Given the description of an element on the screen output the (x, y) to click on. 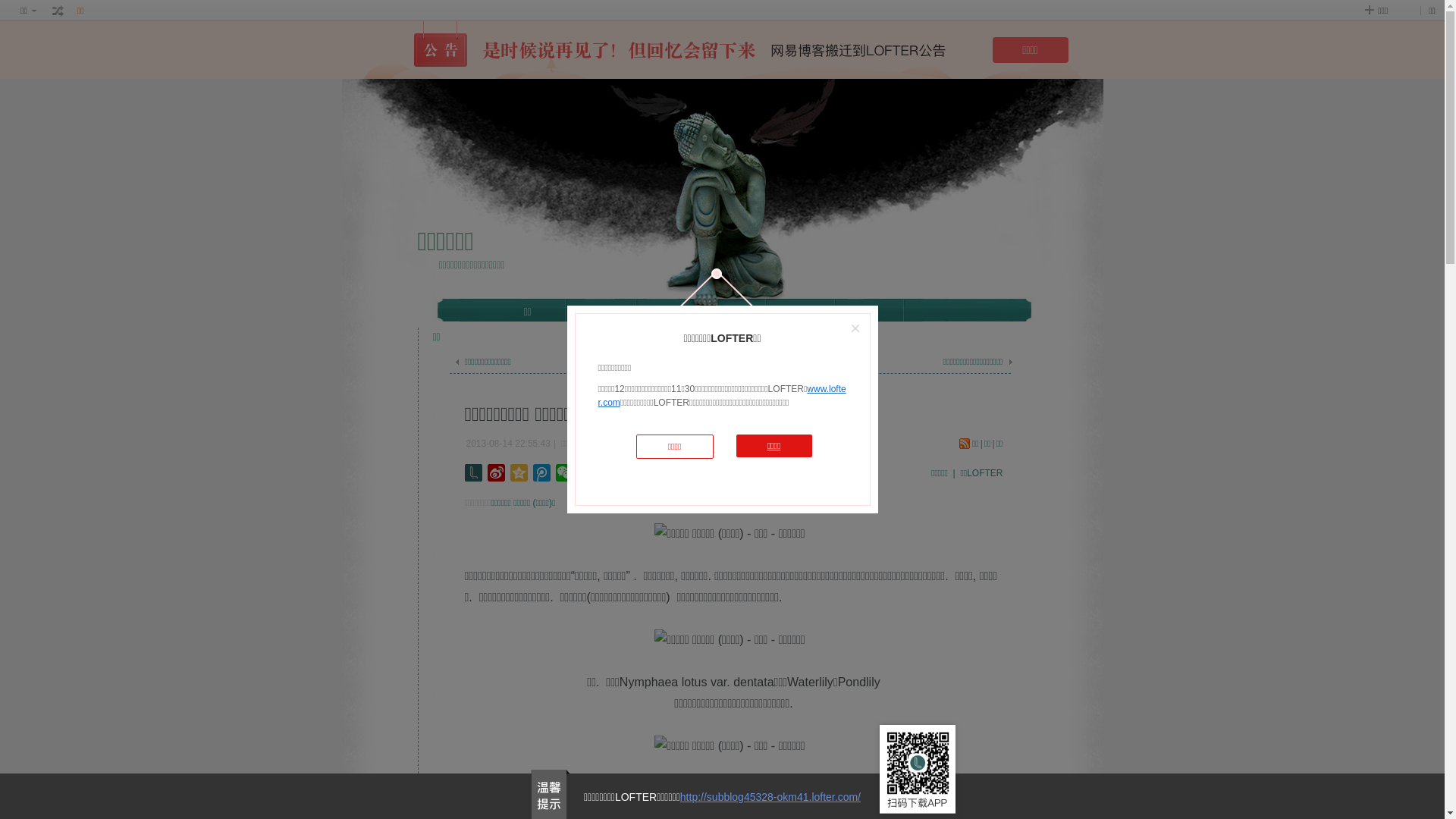
www.lofter.com Element type: text (721, 395)
http://subblog45328-okm41.lofter.com/ Element type: text (770, 796)
LOFTER Element type: text (663, 310)
  Element type: text (58, 10)
